Given the description of an element on the screen output the (x, y) to click on. 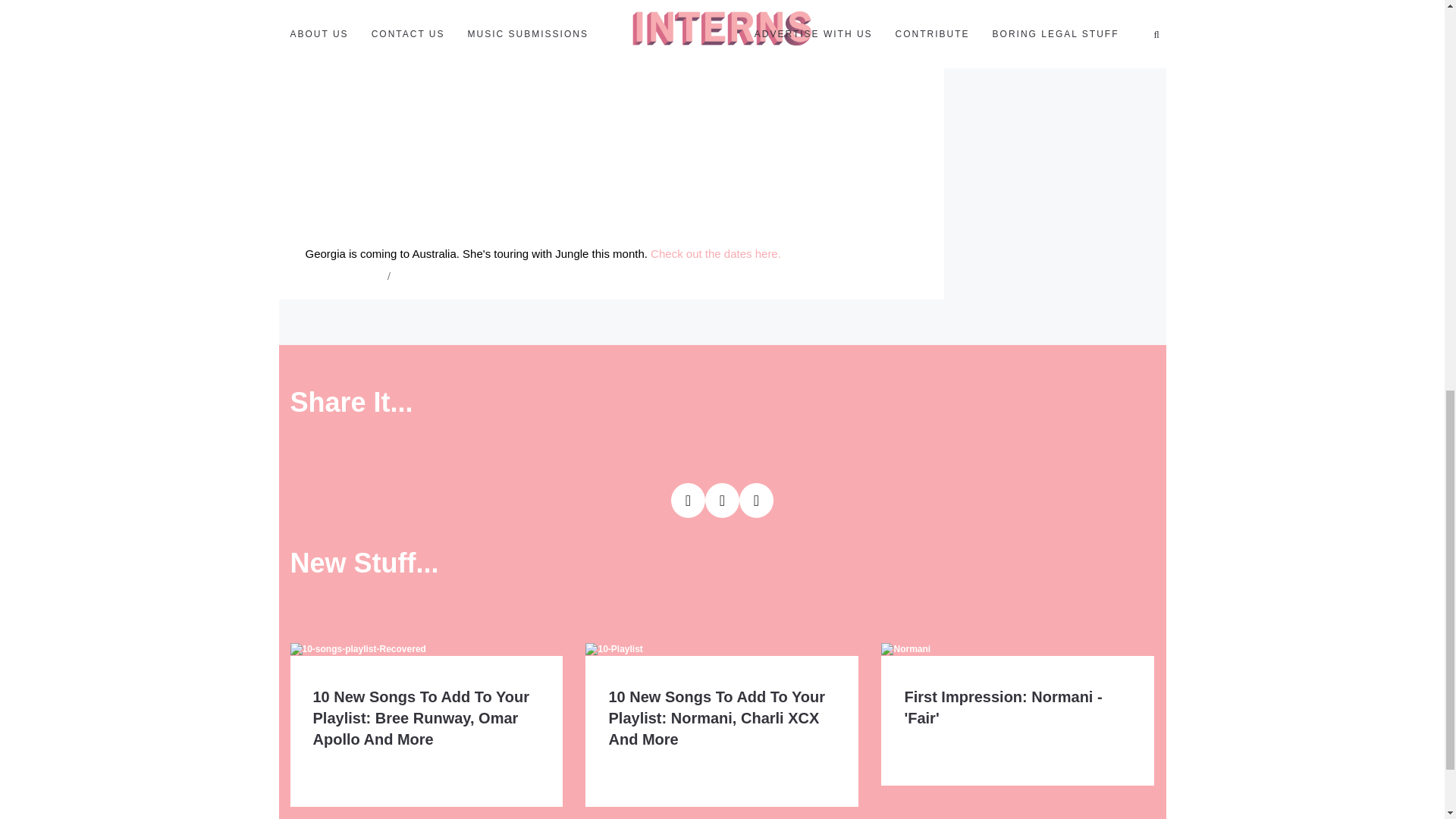
albums, songs, eps (344, 276)
new music (415, 276)
Check out the dates here. (715, 253)
First Impression: Normani - 'Fair' (1003, 707)
